Given the description of an element on the screen output the (x, y) to click on. 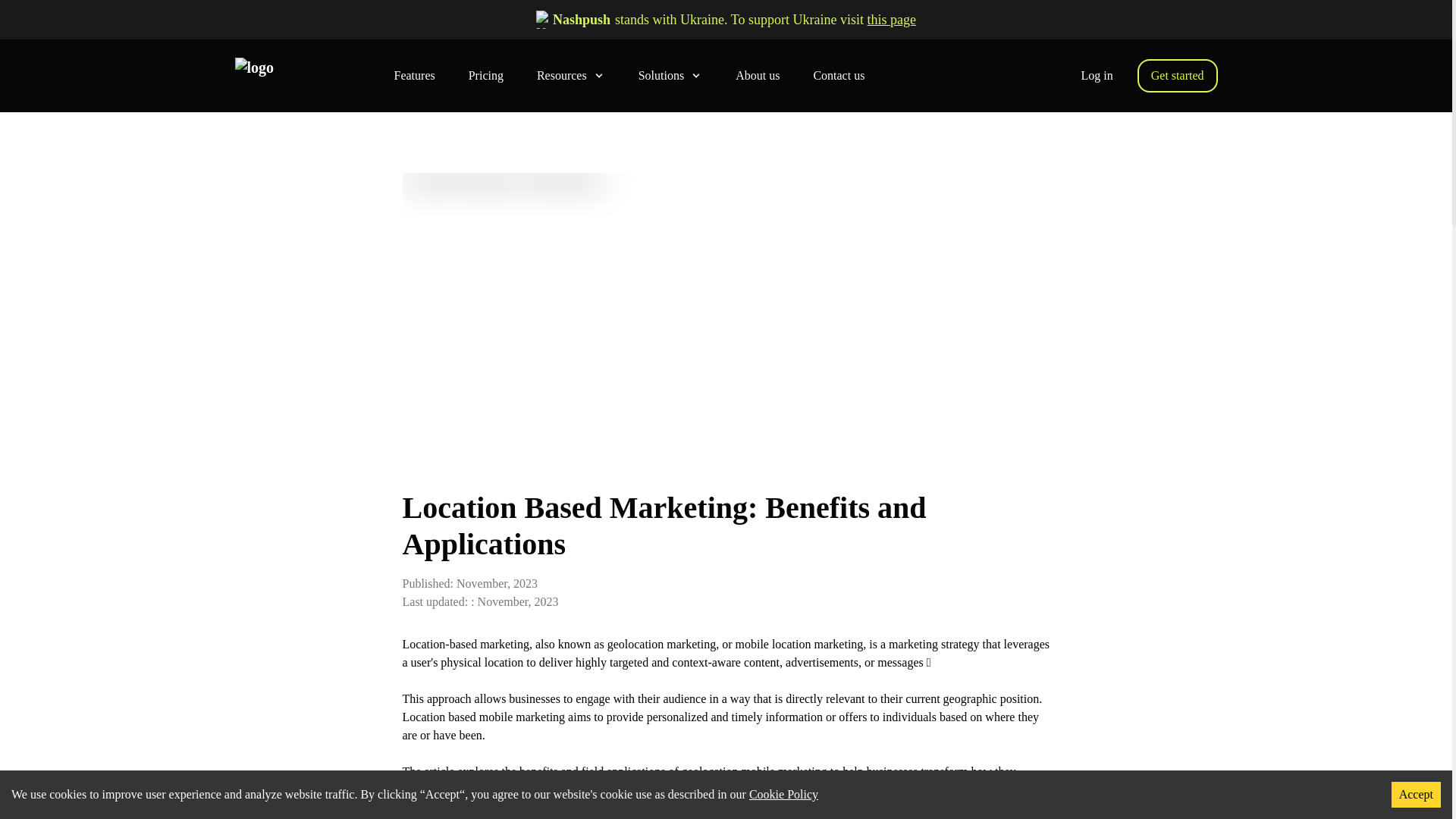
Log in (1097, 75)
Cookie Policy (783, 793)
Pricing (485, 75)
this page (890, 19)
Get started (1177, 75)
About us (756, 75)
Accept (1416, 794)
Resources (571, 75)
Solutions (670, 75)
Features (414, 75)
